Given the description of an element on the screen output the (x, y) to click on. 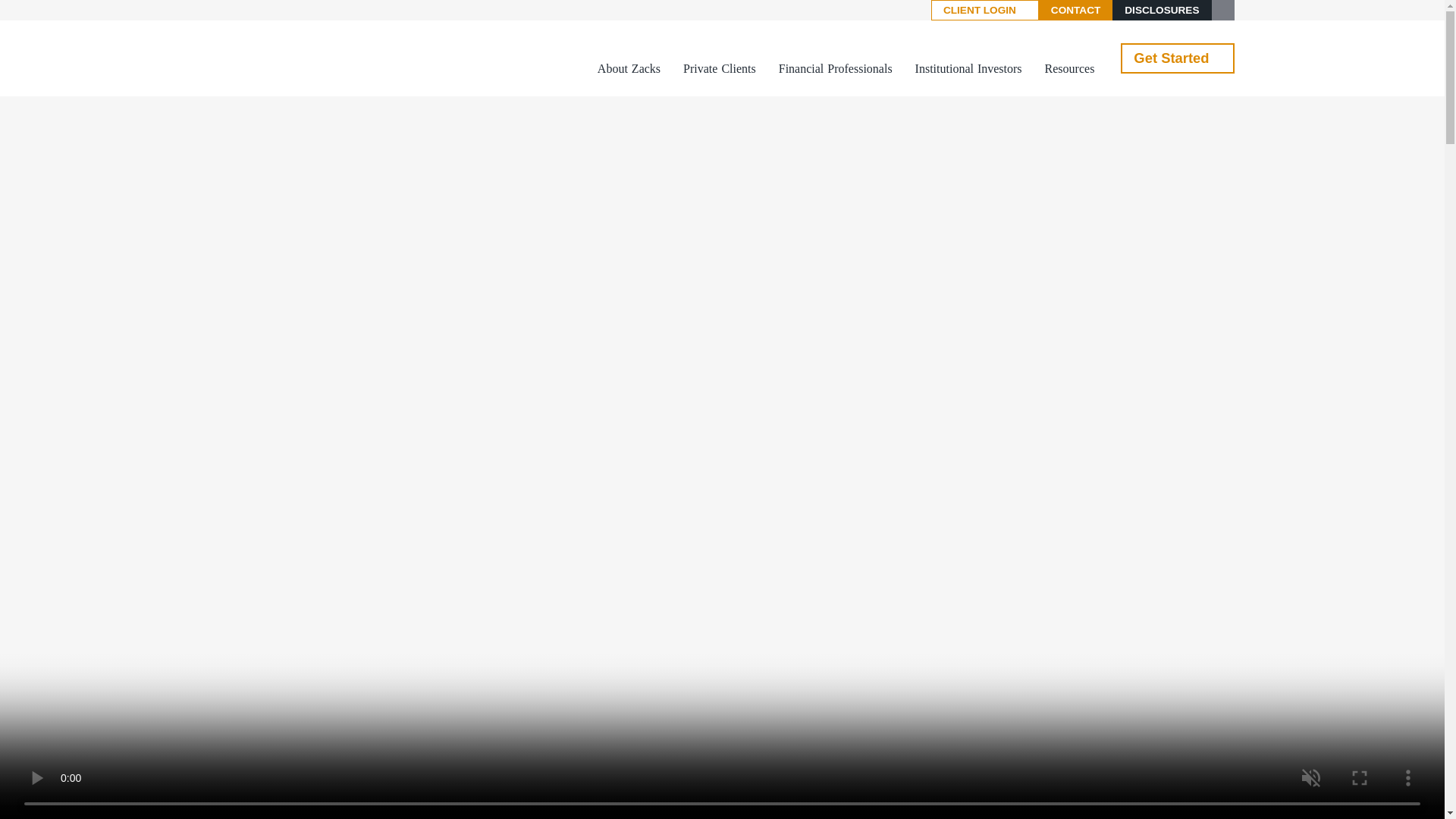
Get Started (1177, 58)
FinancialProfessionals (835, 70)
CONTACT (1075, 10)
Zacks Investment Management (273, 58)
AboutZacks (628, 70)
Resources (1069, 70)
PrivateClients (718, 70)
CLIENT LOGIN (985, 10)
SEARCH (1222, 10)
DISCLOSURES (1161, 10)
InstitutionalInvestors (968, 70)
